Given the description of an element on the screen output the (x, y) to click on. 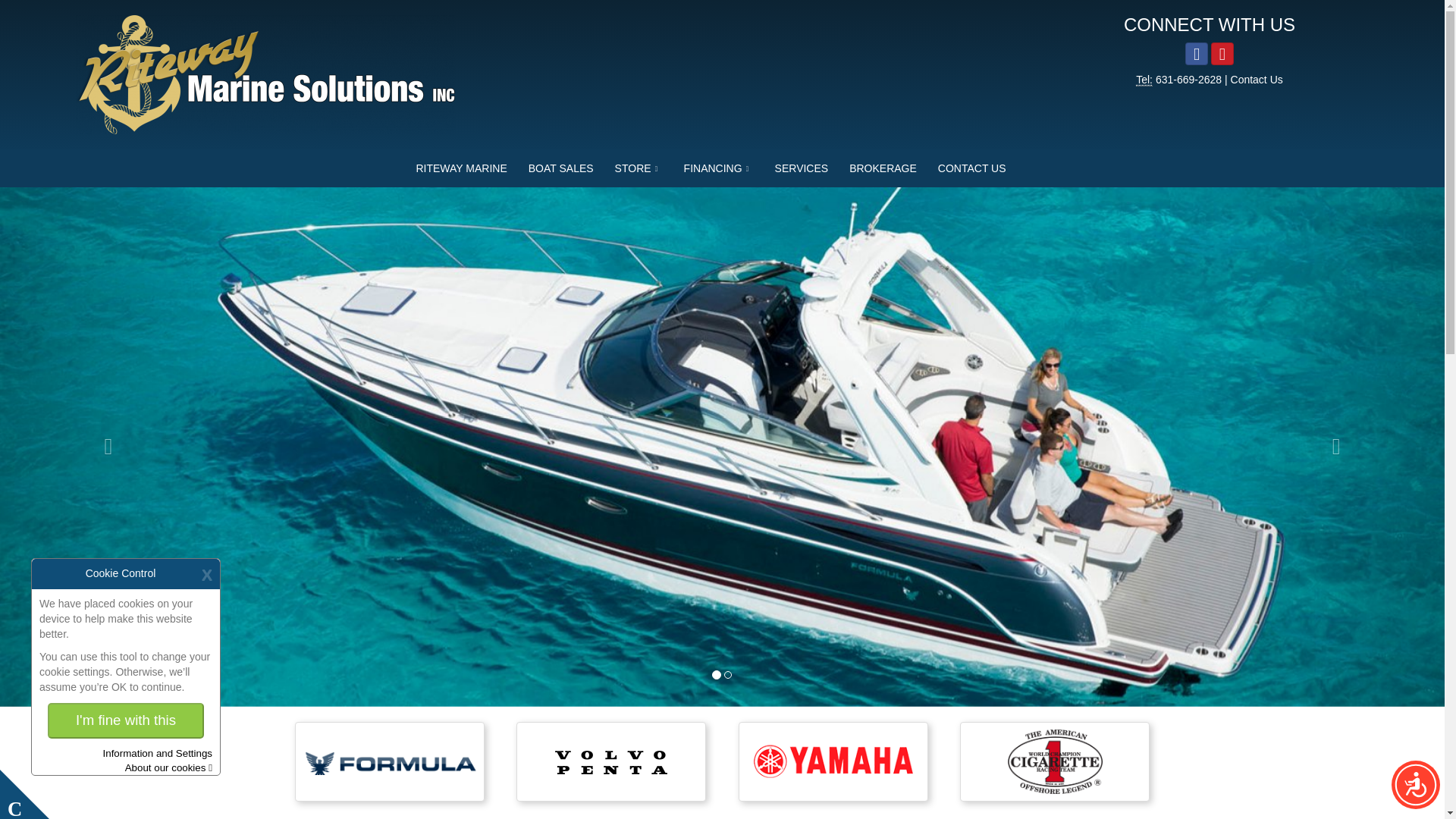
Store (638, 167)
BROKERAGE (882, 167)
CONTACT US (971, 167)
Social media, youtube link (1222, 53)
FINANCING (718, 167)
Boat Sales (561, 167)
Contact Us (1256, 79)
STORE (638, 167)
Phone (1144, 79)
Riteway Marine (460, 167)
631-669-2628 (1190, 79)
BOAT SALES (561, 167)
RITEWAY MARINE (460, 167)
SERVICES (802, 167)
Social media, facebook link (1196, 53)
